Given the description of an element on the screen output the (x, y) to click on. 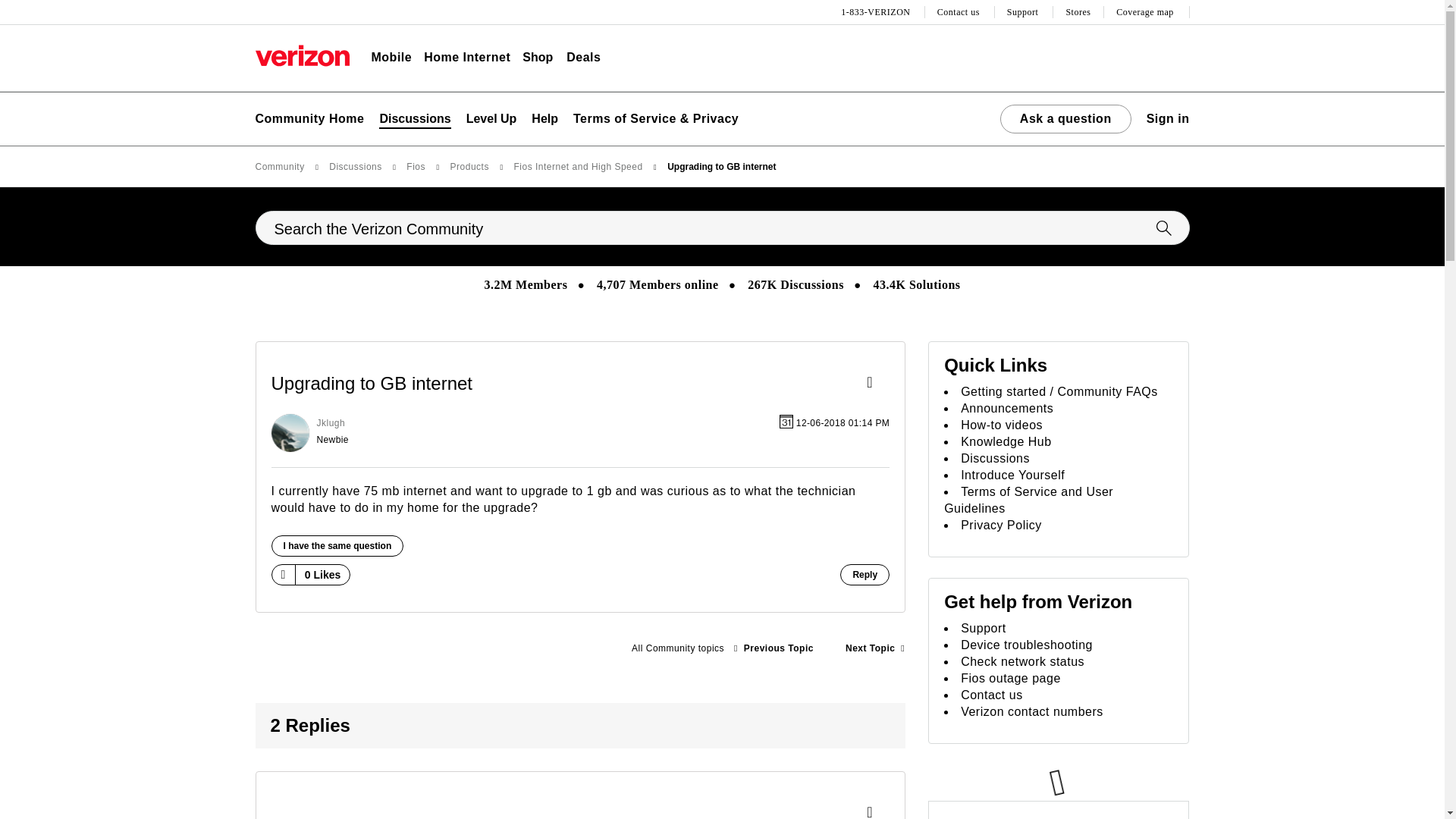
Contact us (959, 12)
Click here if you had a similar experience (337, 545)
Jklugh (289, 433)
Click here to give likes to this post. (282, 574)
Search (721, 227)
Home Internet (467, 57)
Mobile (391, 57)
connection type (874, 648)
Fios Internet and High Speed (677, 648)
Coverage map (1146, 12)
